Given the description of an element on the screen output the (x, y) to click on. 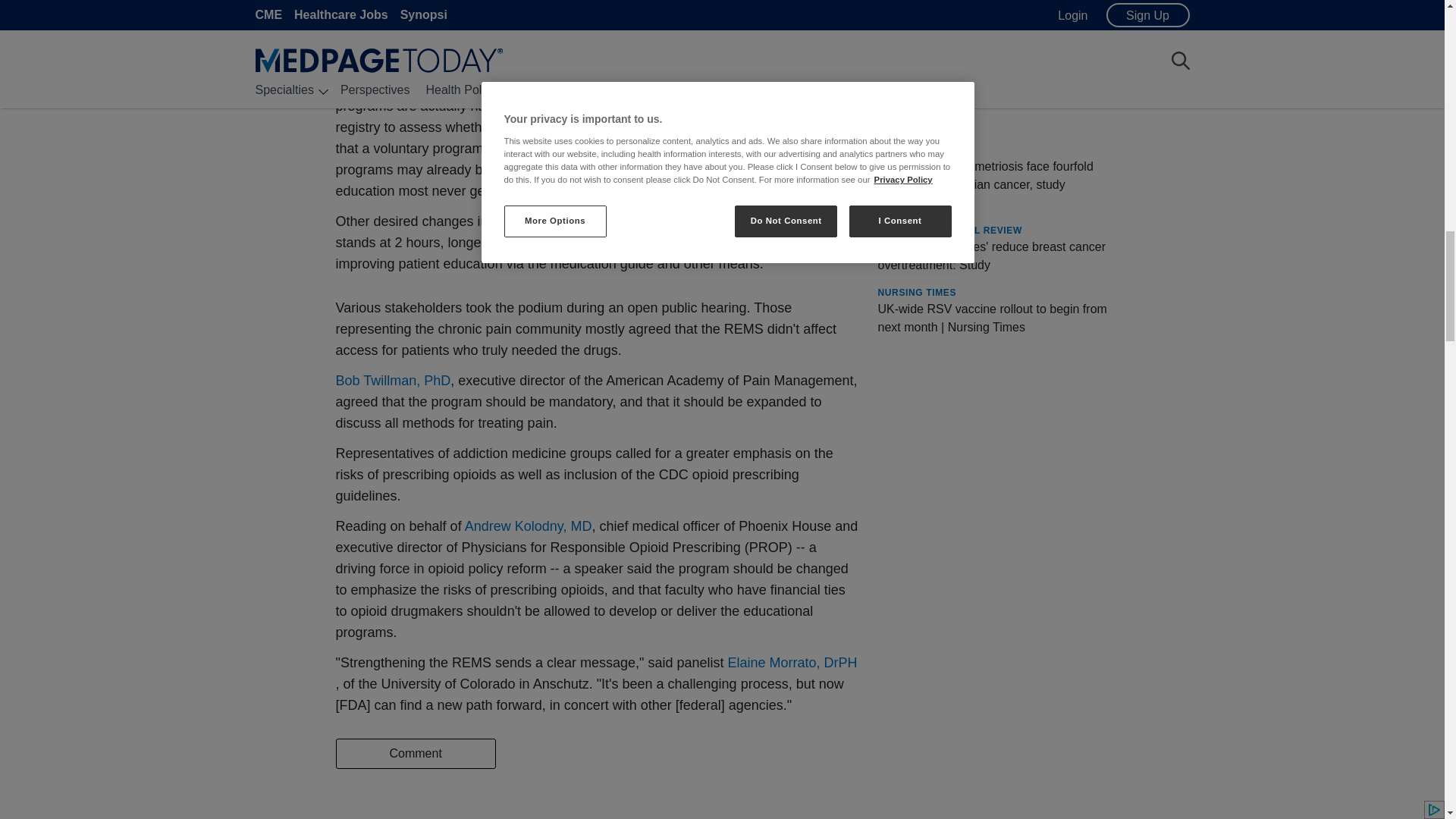
Opens in a new tab or window (988, 673)
Opens in a new tab or window (528, 525)
Opens in a new tab or window (391, 380)
Opens in a new tab or window (992, 43)
